Given the description of an element on the screen output the (x, y) to click on. 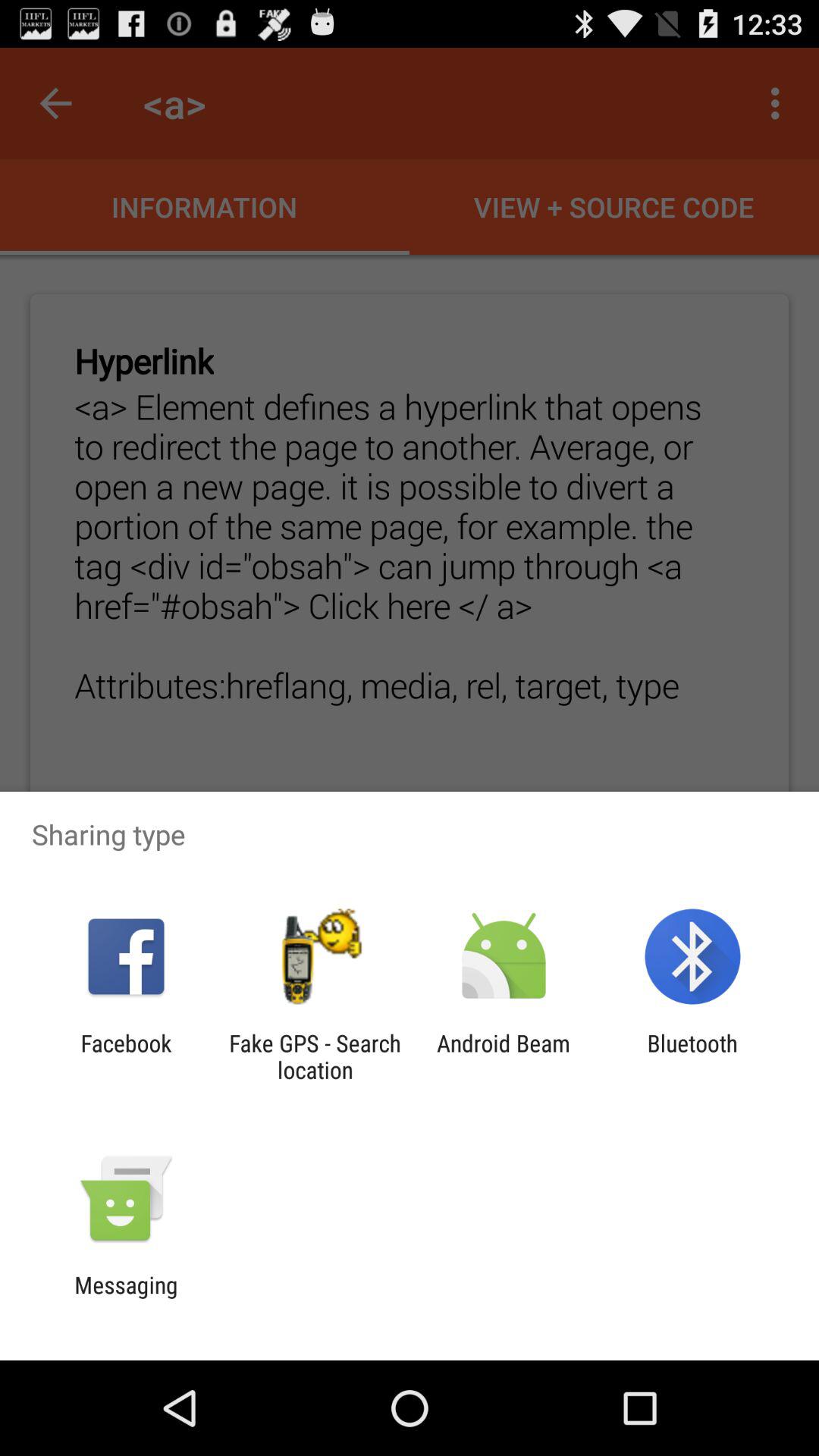
scroll to messaging (126, 1298)
